Given the description of an element on the screen output the (x, y) to click on. 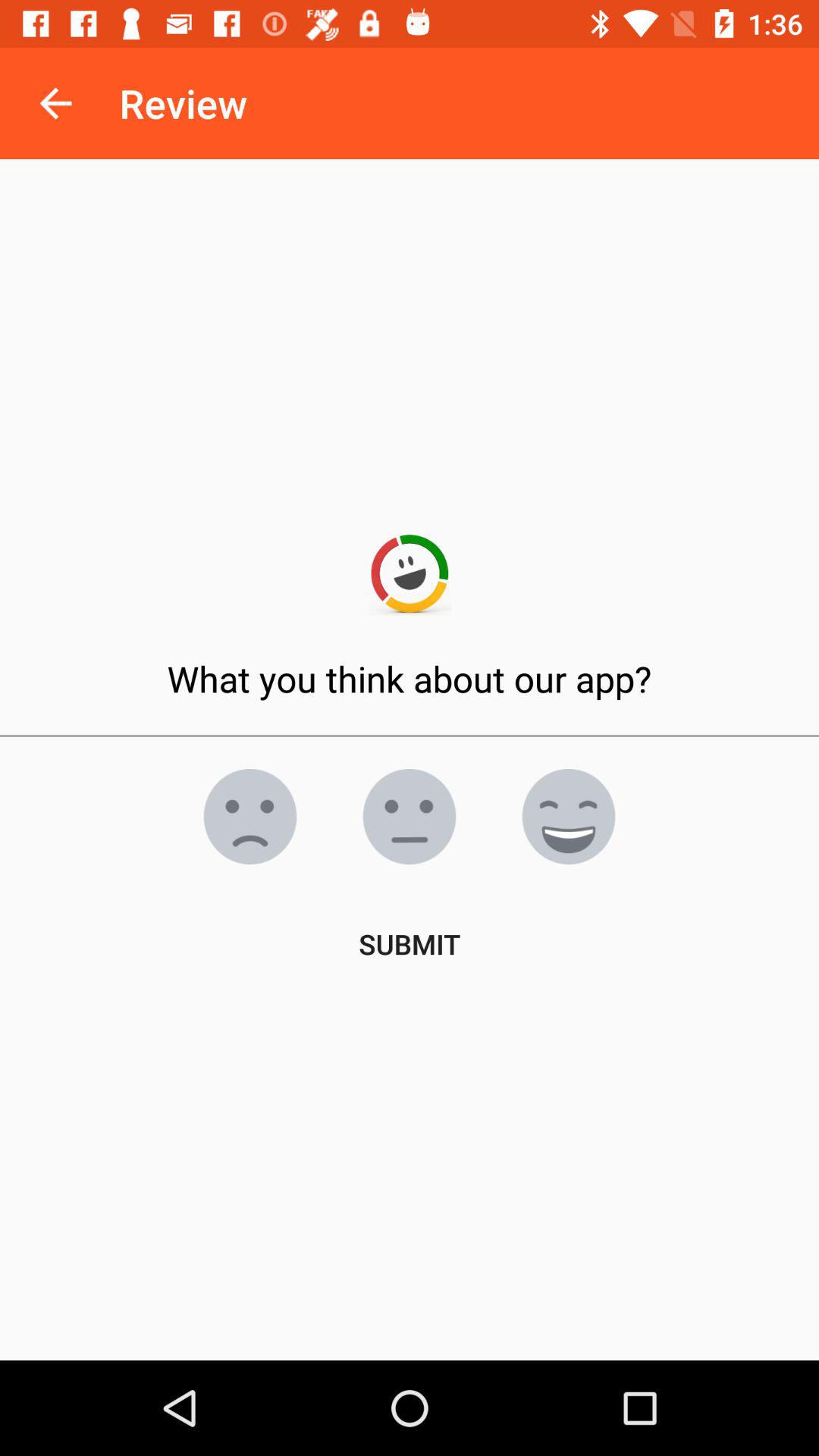
open submit icon (409, 943)
